Given the description of an element on the screen output the (x, y) to click on. 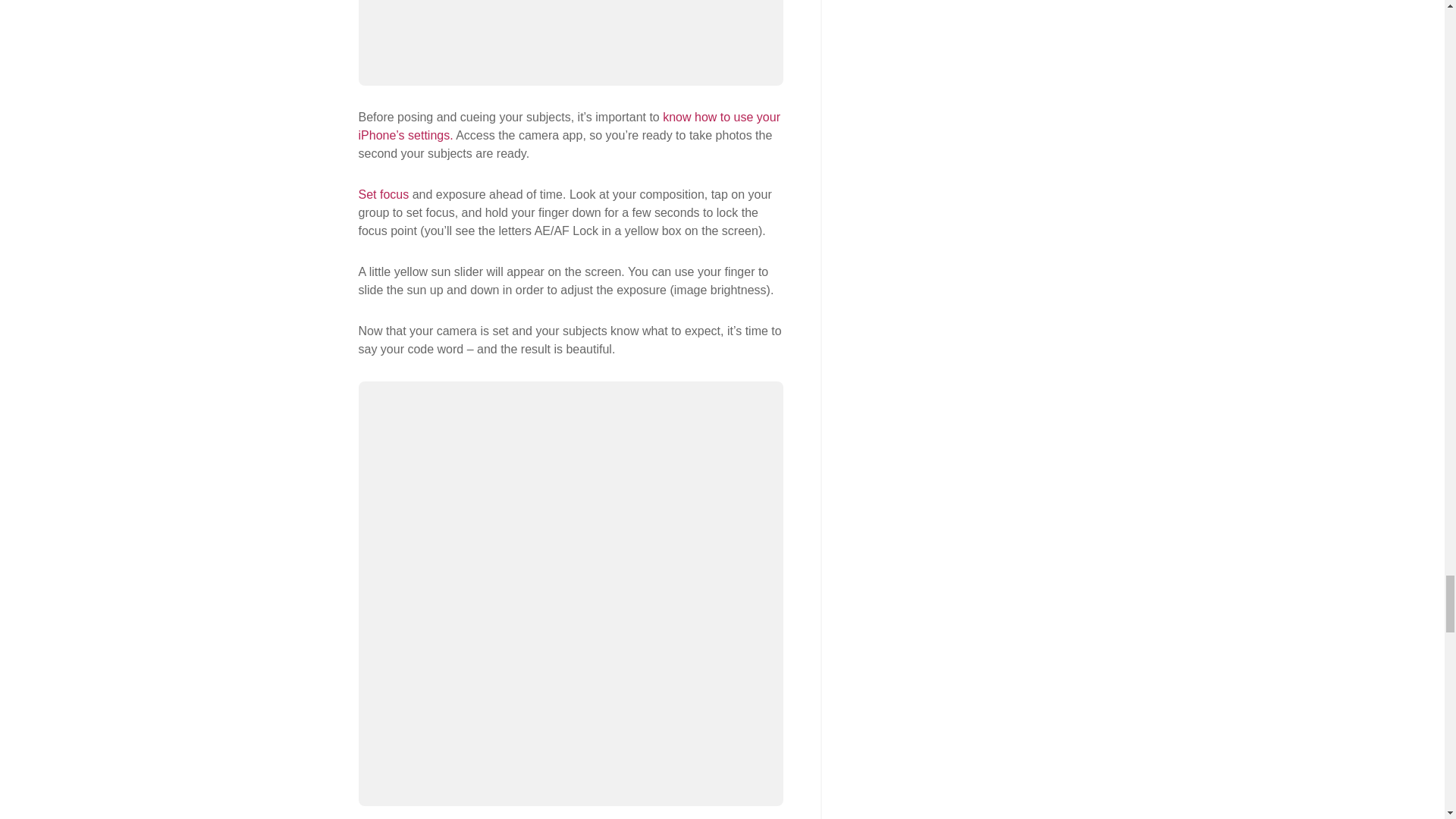
Set focus (385, 194)
